Given the description of an element on the screen output the (x, y) to click on. 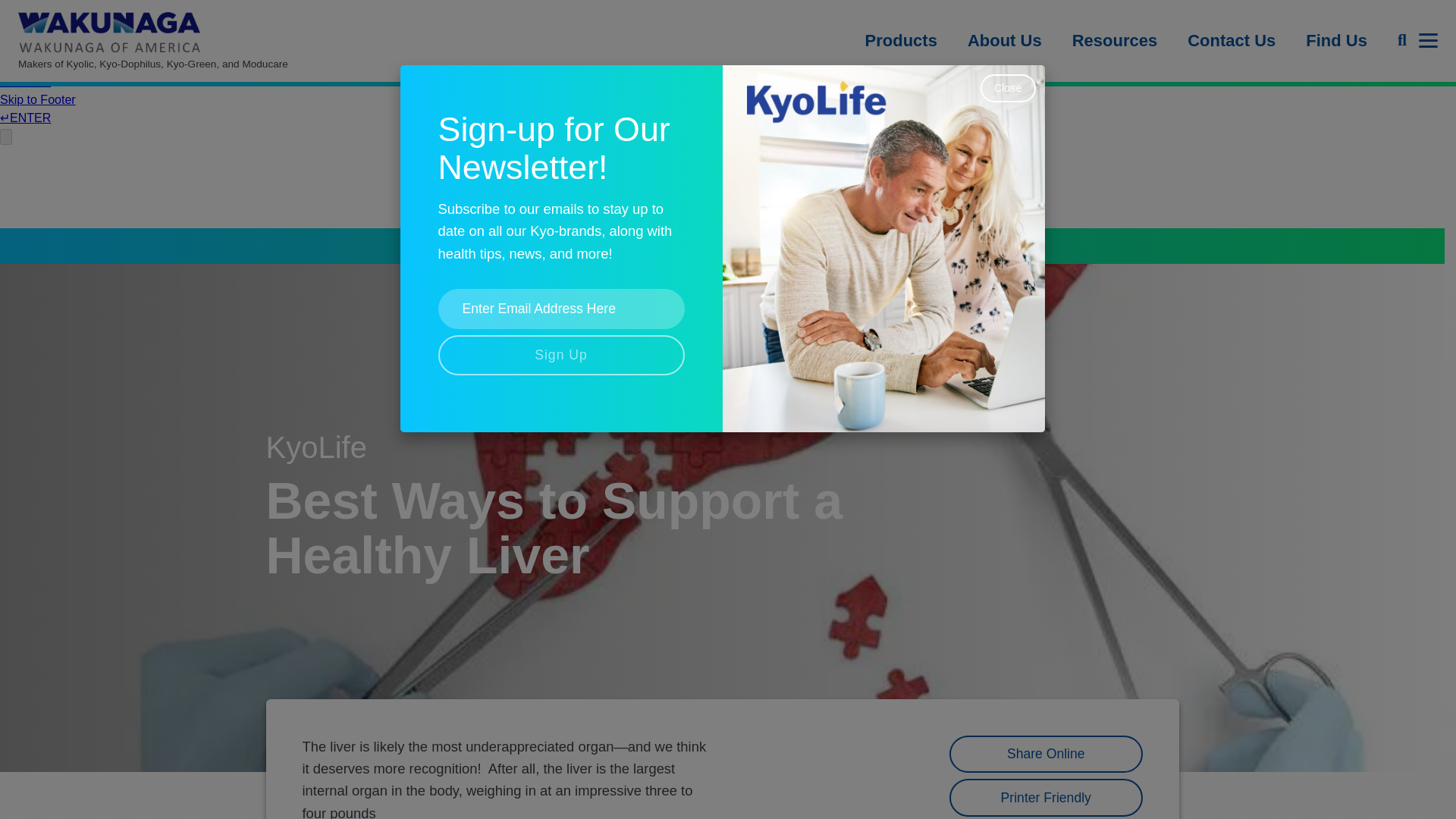
Sign Up (561, 354)
